Given the description of an element on the screen output the (x, y) to click on. 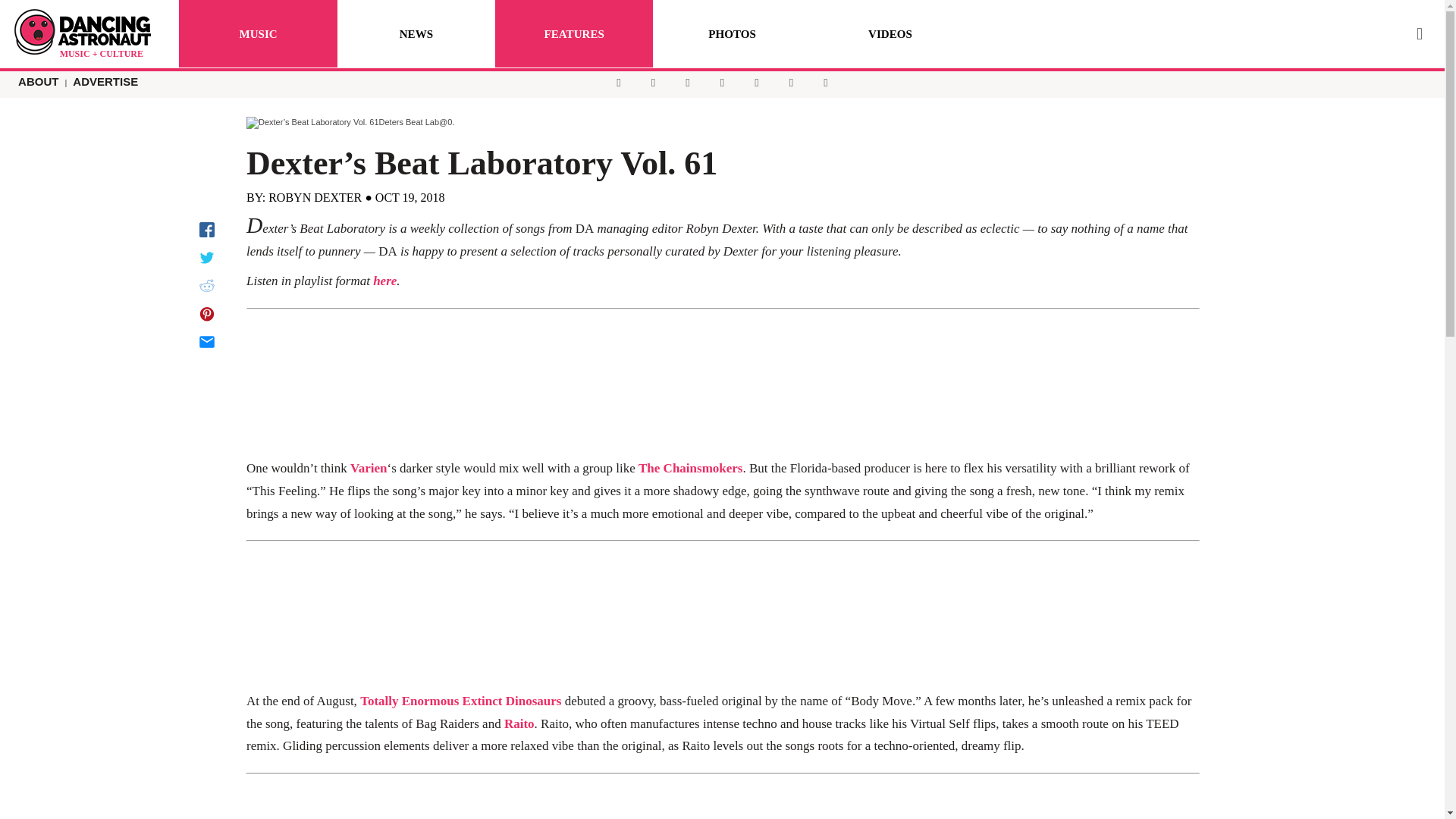
here (384, 280)
MUSIC (257, 33)
Robyn Dexter (314, 196)
Raito (518, 723)
Varien (368, 468)
Totally Enormous Extinct Dinosaurs (459, 700)
About Dancing Astronaut (37, 81)
NEWS (416, 33)
Advertise on Dancing Astronaut (105, 81)
ABOUT (37, 81)
